Given the description of an element on the screen output the (x, y) to click on. 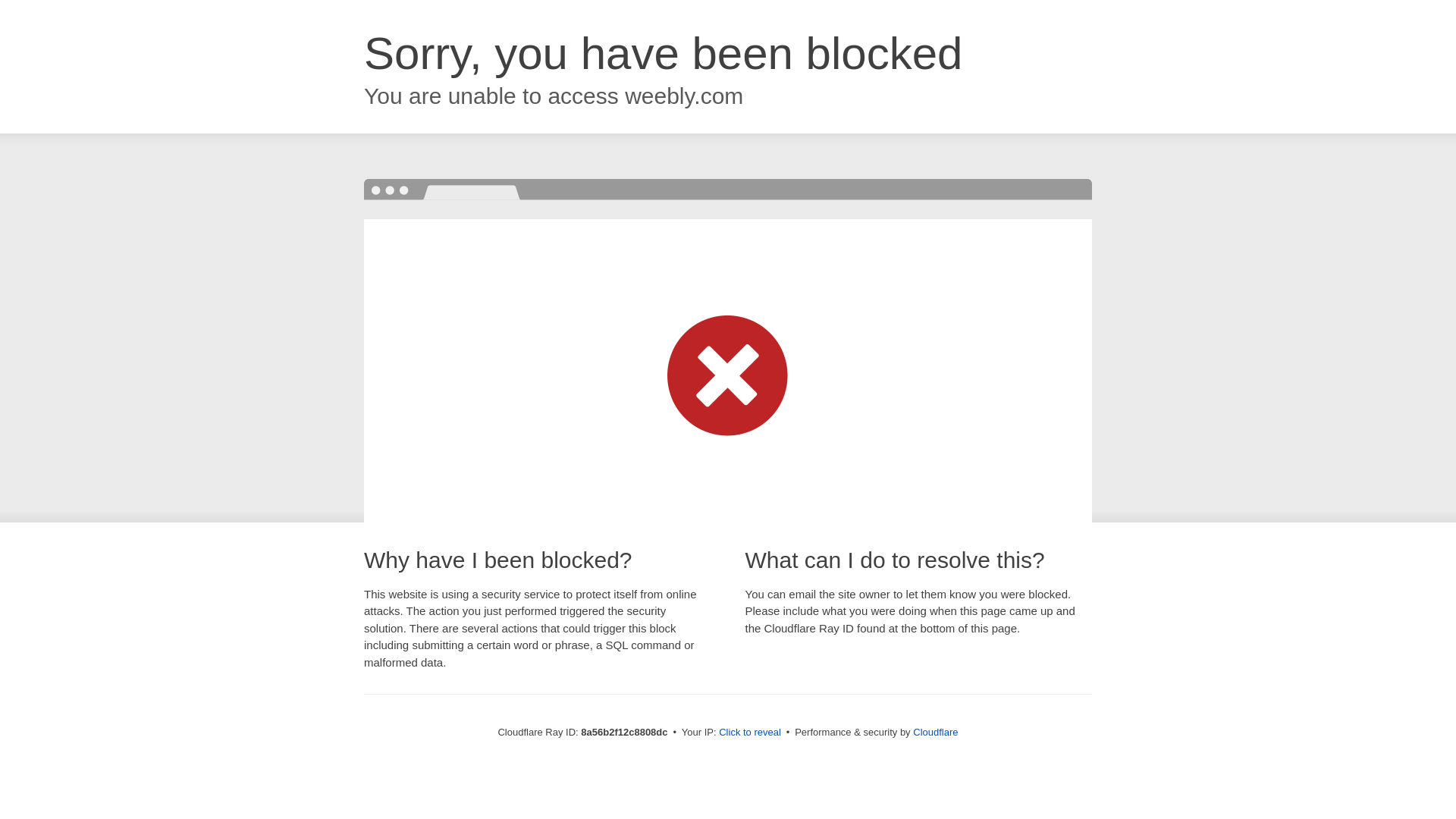
Click to reveal (749, 732)
Cloudflare (935, 731)
